Given the description of an element on the screen output the (x, y) to click on. 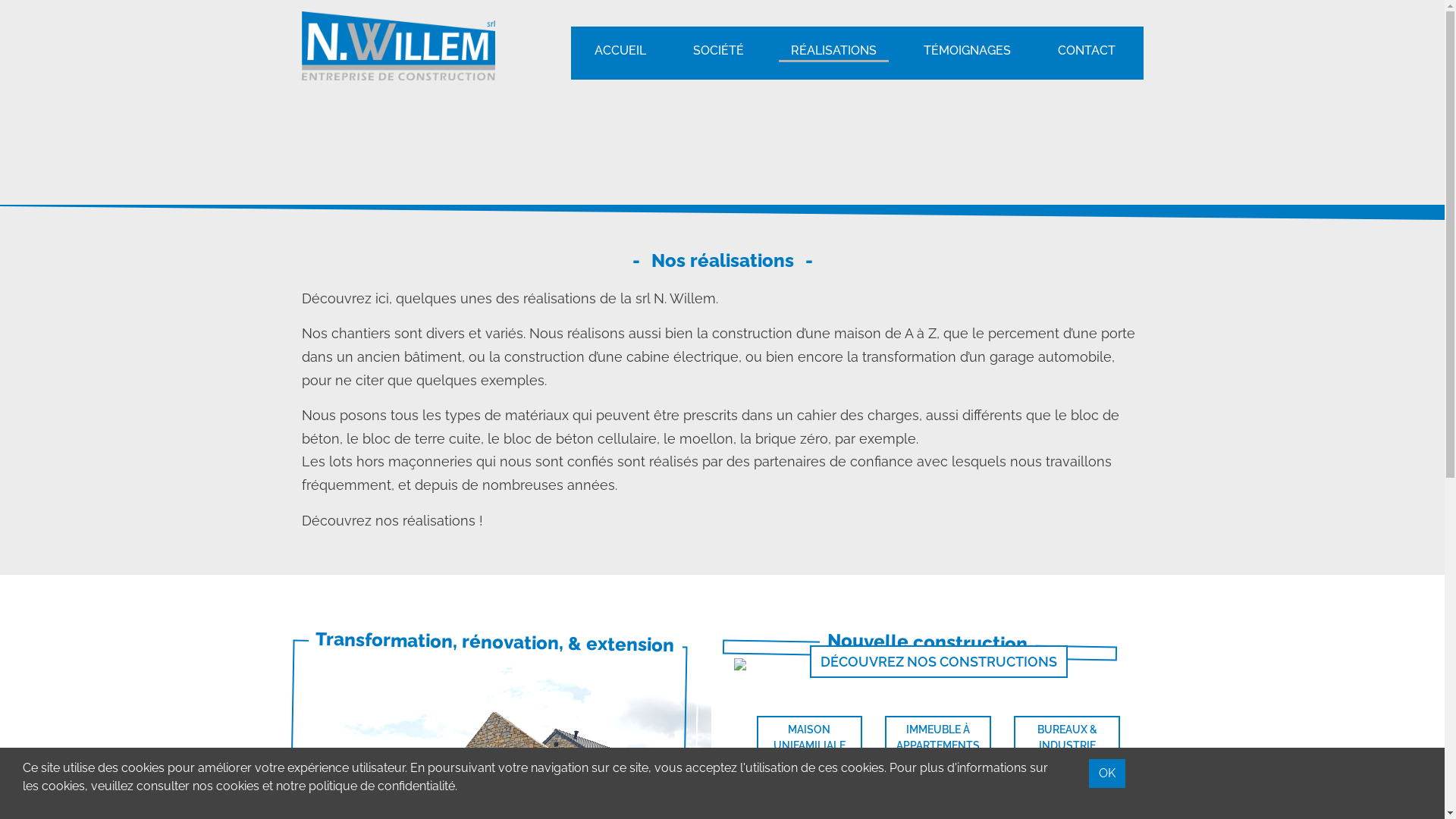
OK Element type: text (1106, 773)
CONTACT Element type: text (1085, 53)
BUREAUX & INDUSTRIE Element type: text (1066, 737)
srl N.Willem Element type: hover (398, 45)
ACCUEIL Element type: text (620, 53)
MAISON UNIFAMILIALE Element type: text (809, 737)
